Given the description of an element on the screen output the (x, y) to click on. 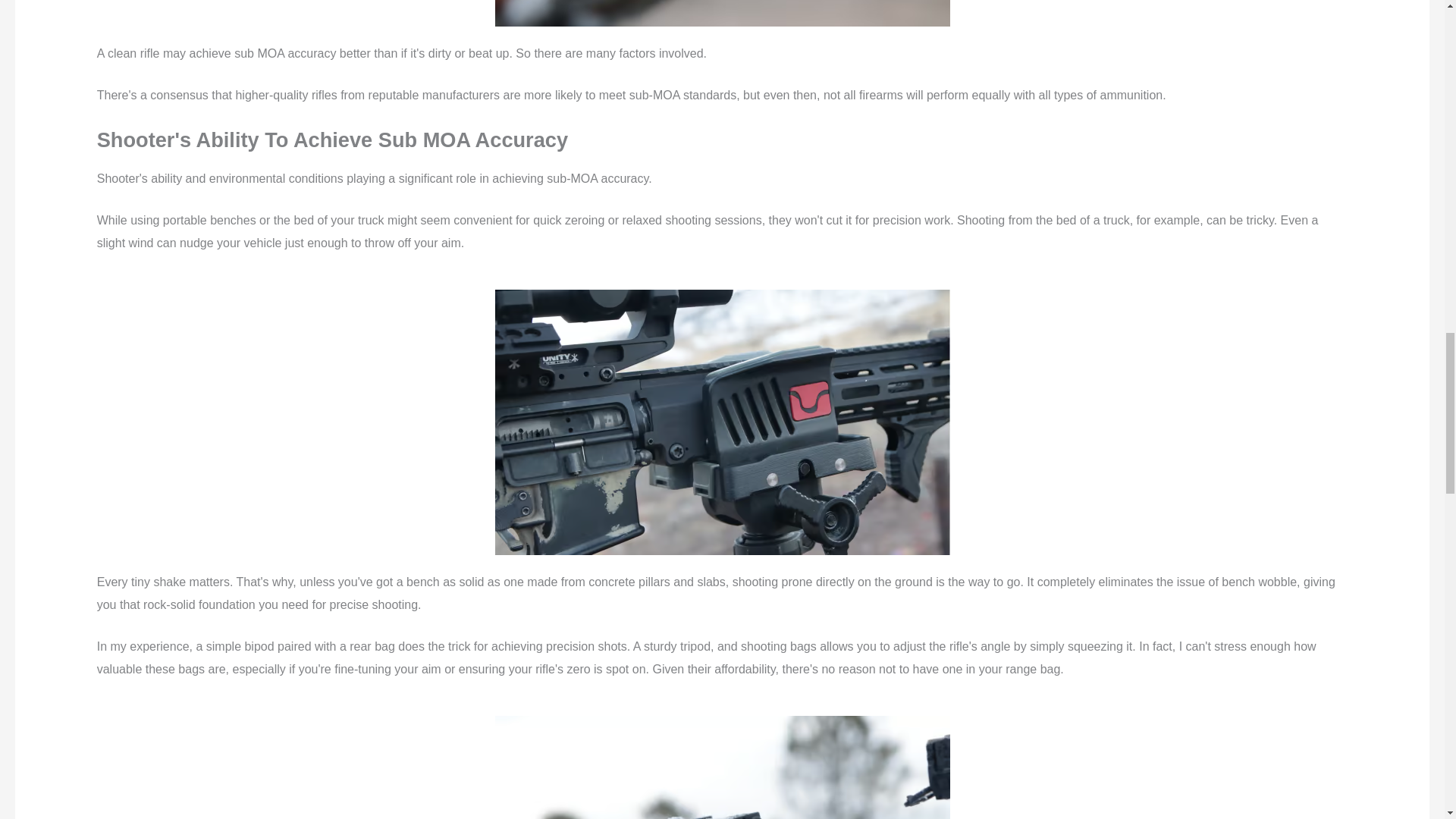
geissele ar15 handguards (722, 767)
sub moa accurate shooting ar15 (722, 422)
ar15 bolt head (722, 13)
